Given the description of an element on the screen output the (x, y) to click on. 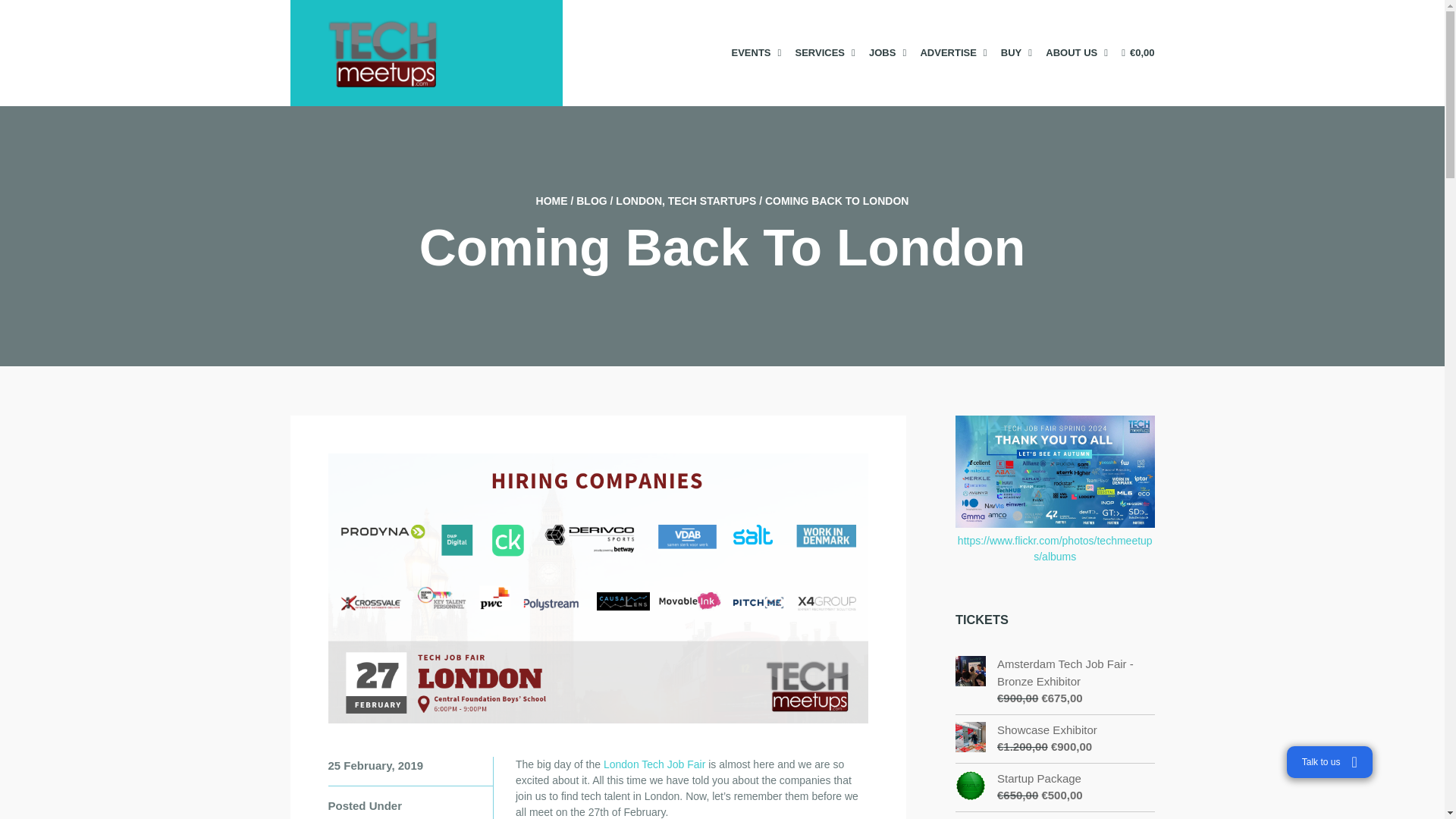
Blog (591, 200)
TechMeetups (551, 200)
EVENTS (755, 52)
